Given the description of an element on the screen output the (x, y) to click on. 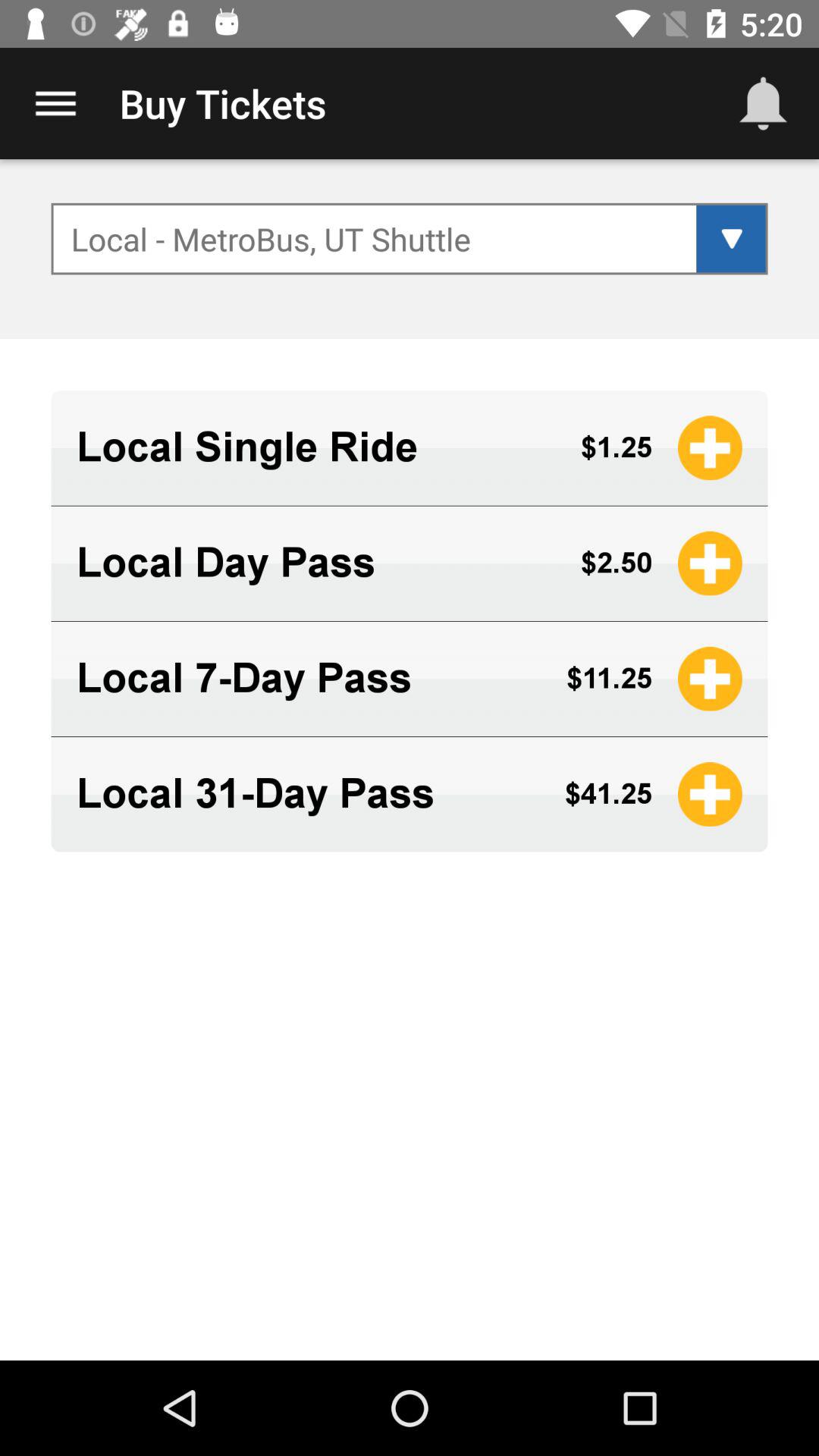
flip to the $2.50 app (616, 563)
